Given the description of an element on the screen output the (x, y) to click on. 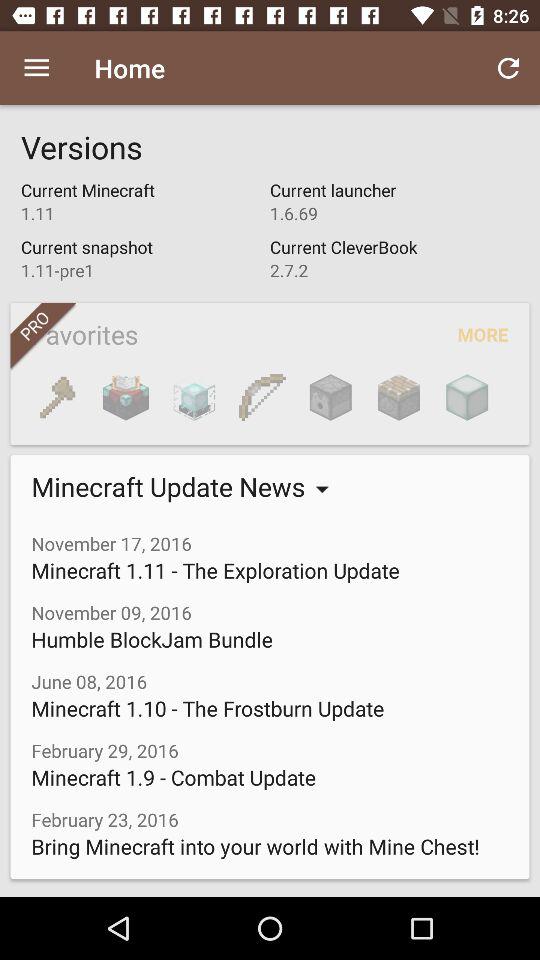
press the item above november 17, 2016 item (398, 397)
